Given the description of an element on the screen output the (x, y) to click on. 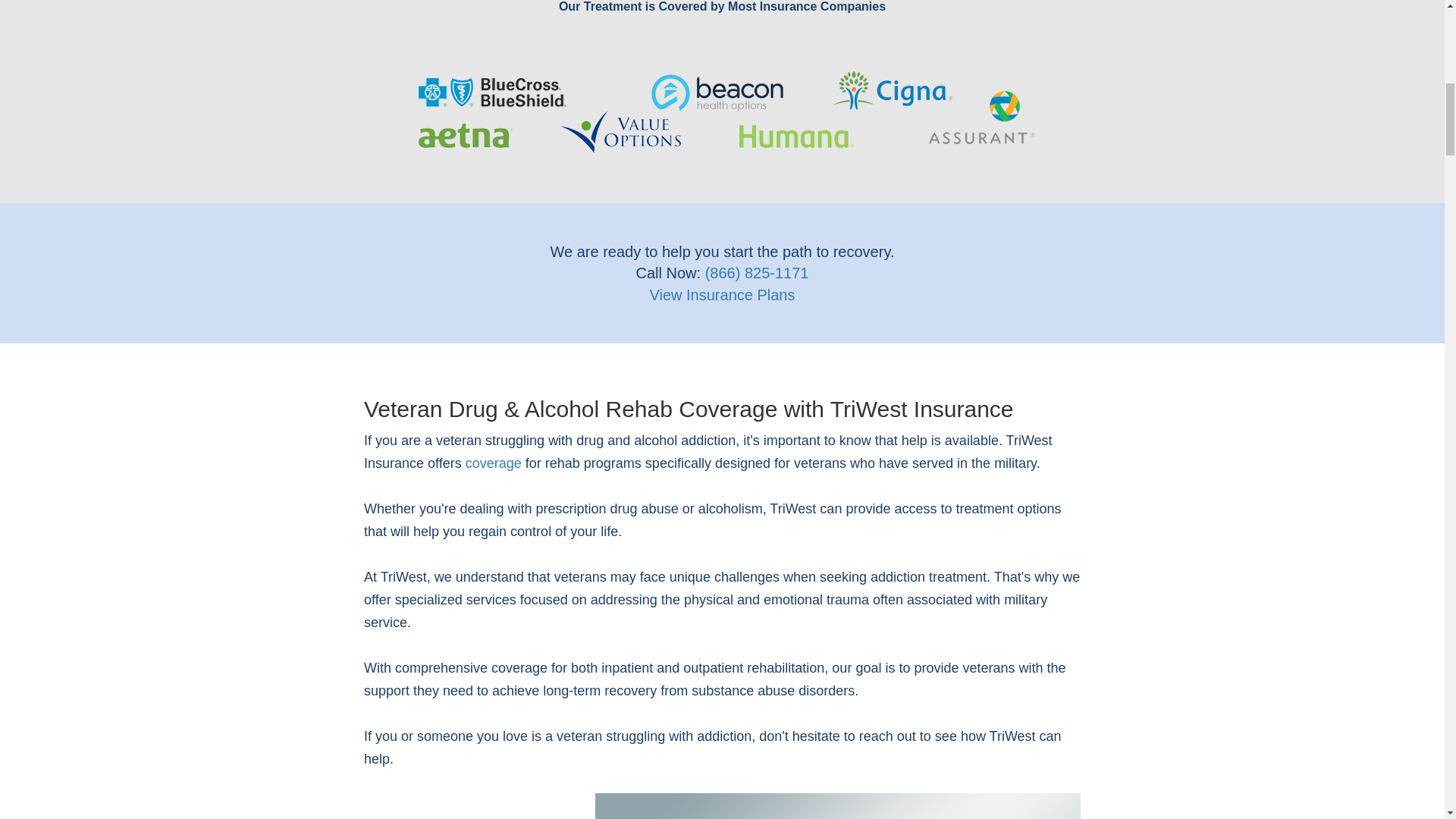
coverage (493, 462)
View Insurance Plans (721, 294)
